Given the description of an element on the screen output the (x, y) to click on. 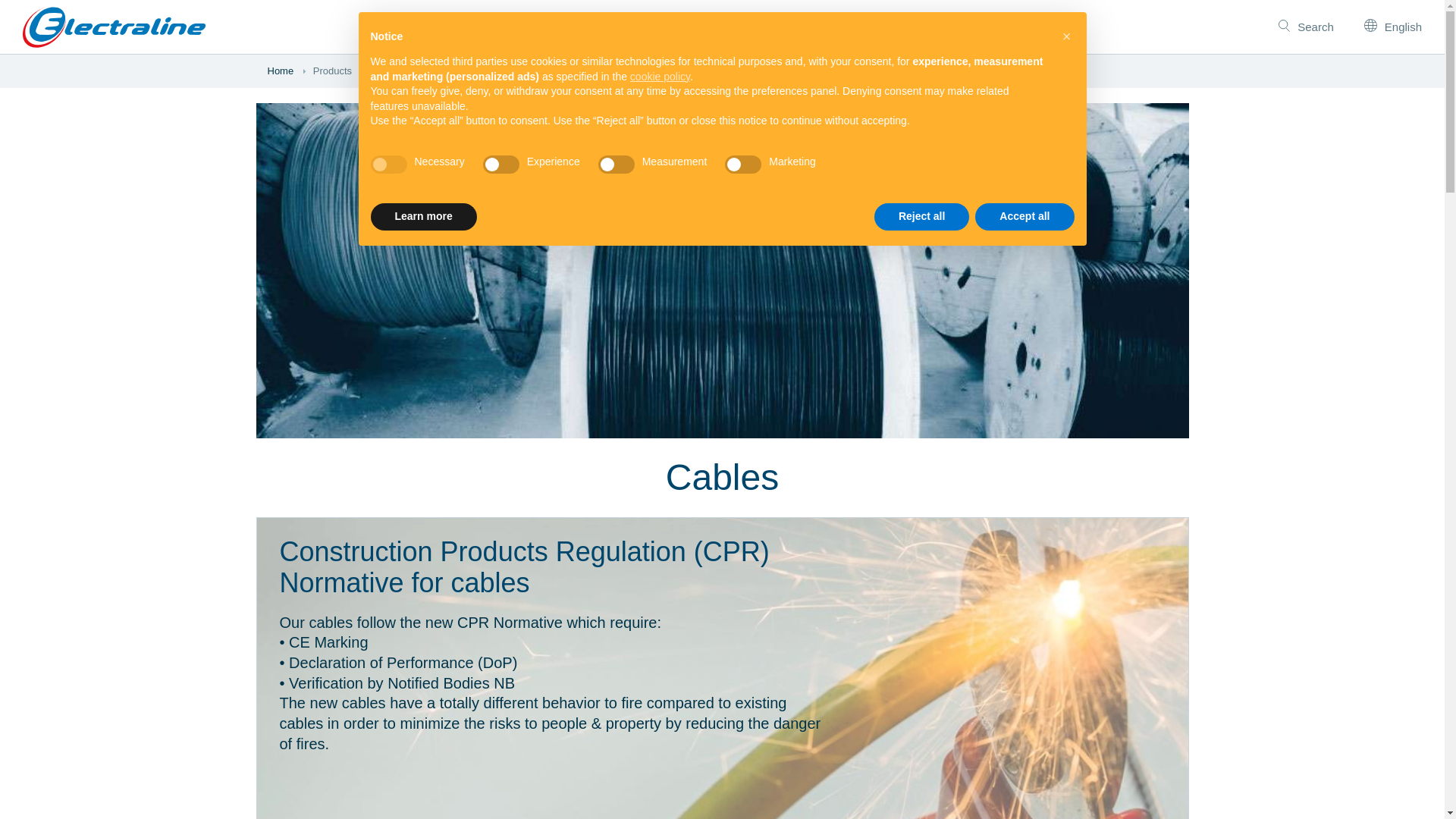
NEWS (699, 29)
PRODUCTS (537, 29)
Homepage (114, 25)
false (501, 164)
COMPANY (830, 29)
DOWNLOAD (628, 29)
false (616, 164)
false (743, 164)
EVENTS (758, 29)
true (387, 164)
